Given the description of an element on the screen output the (x, y) to click on. 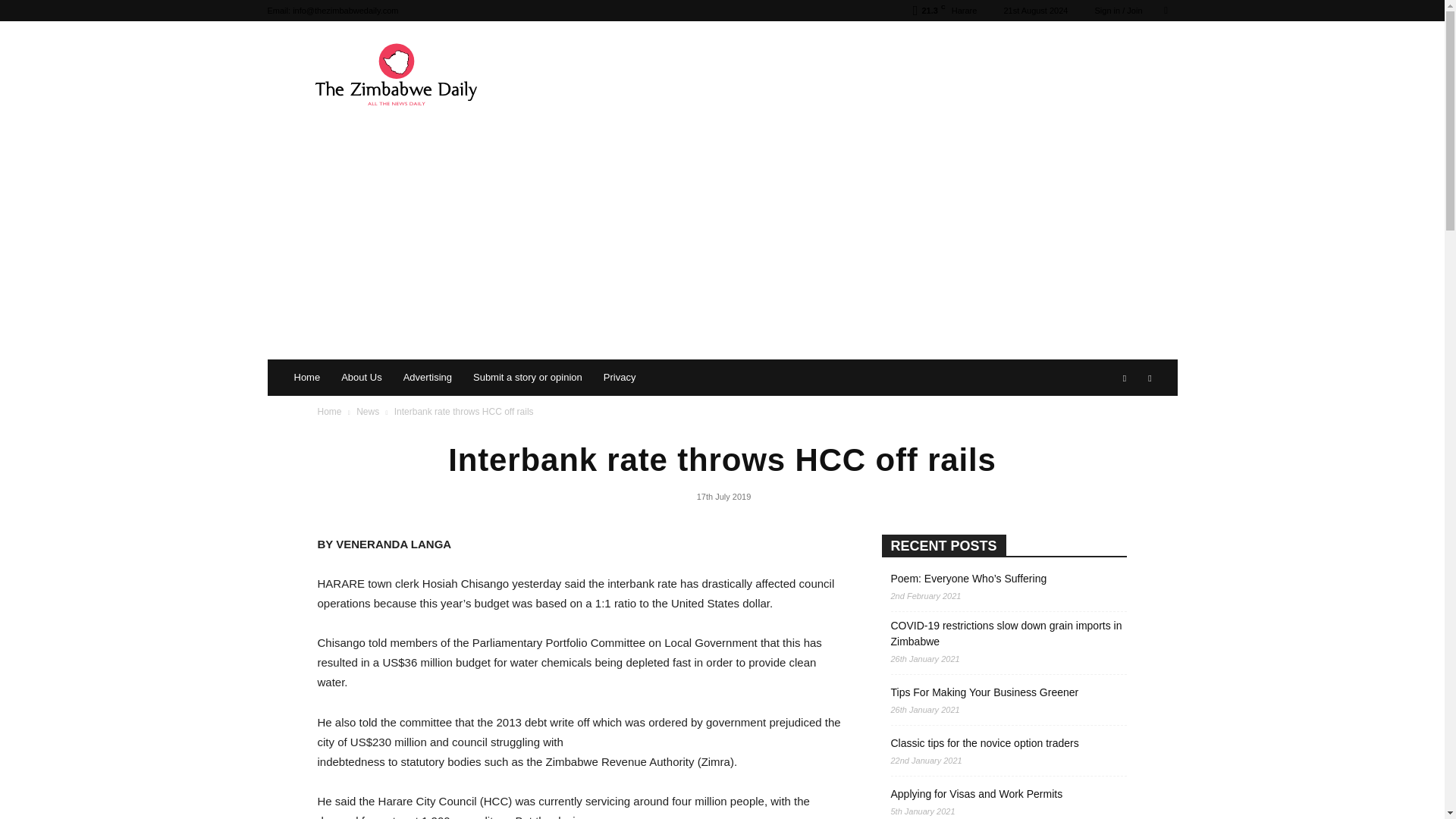
View all posts in News (367, 411)
News (367, 411)
About Us (360, 377)
Privacy (619, 377)
Search (1134, 63)
Home (328, 411)
Submit a story or opinion (527, 377)
Advertising (428, 377)
Home (307, 377)
